Given the description of an element on the screen output the (x, y) to click on. 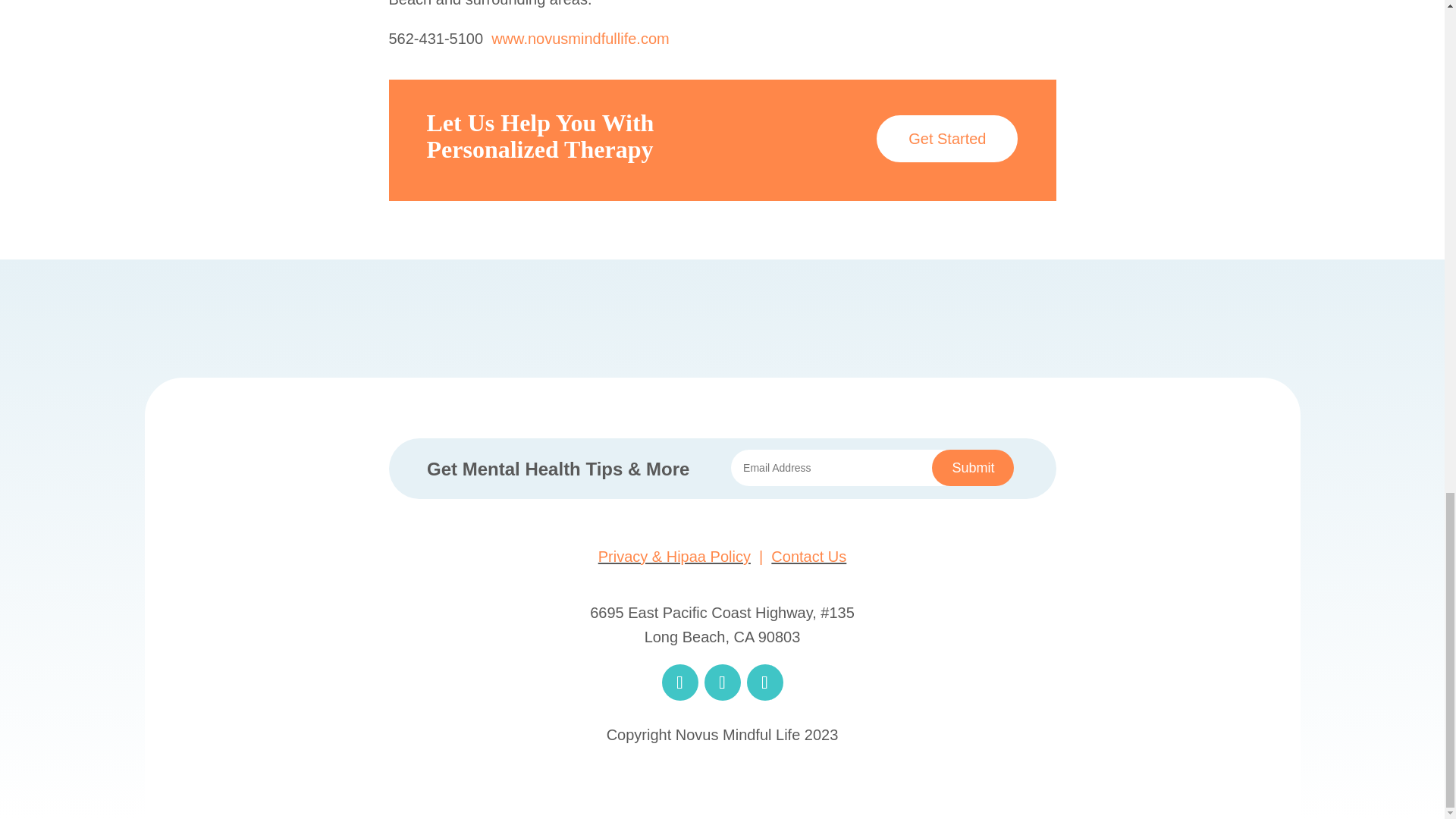
Follow on LinkedIn (764, 682)
Get Started (946, 138)
nvl-ic-mini (721, 776)
Follow on X (721, 682)
www.novusmindfullife.com (580, 38)
Follow on Facebook (679, 682)
